Given the description of an element on the screen output the (x, y) to click on. 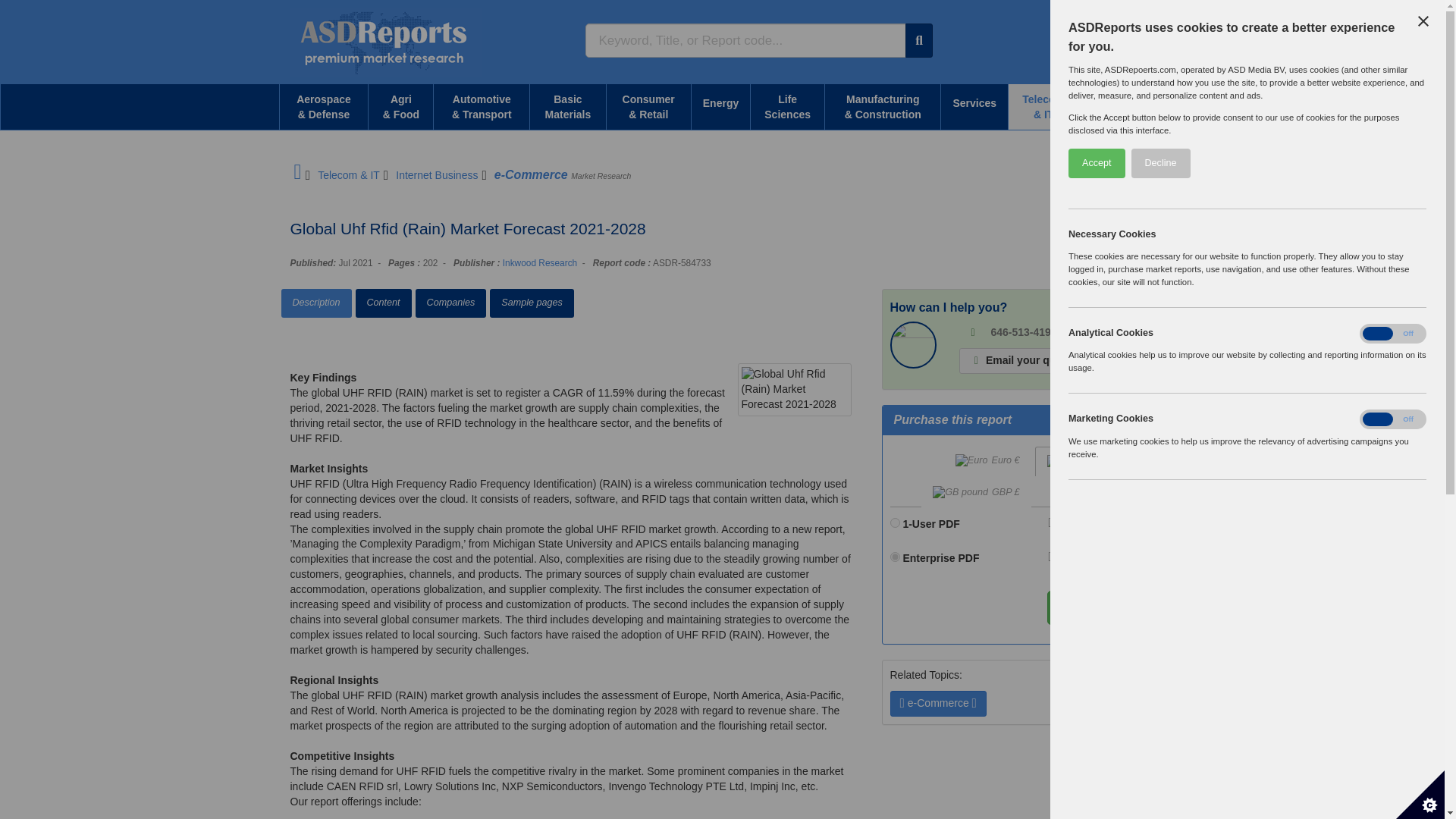
Change currency to GB Pound (975, 492)
Change currency to Euro (986, 460)
Decline (1359, 163)
Change currency to US Dollar (1086, 460)
Accept (1367, 163)
e-Commerce Market Research (563, 174)
Internet Business Market Research (436, 174)
xprice2 (894, 556)
xprice1 (894, 522)
ASDReports Homepage (297, 174)
